Given the description of an element on the screen output the (x, y) to click on. 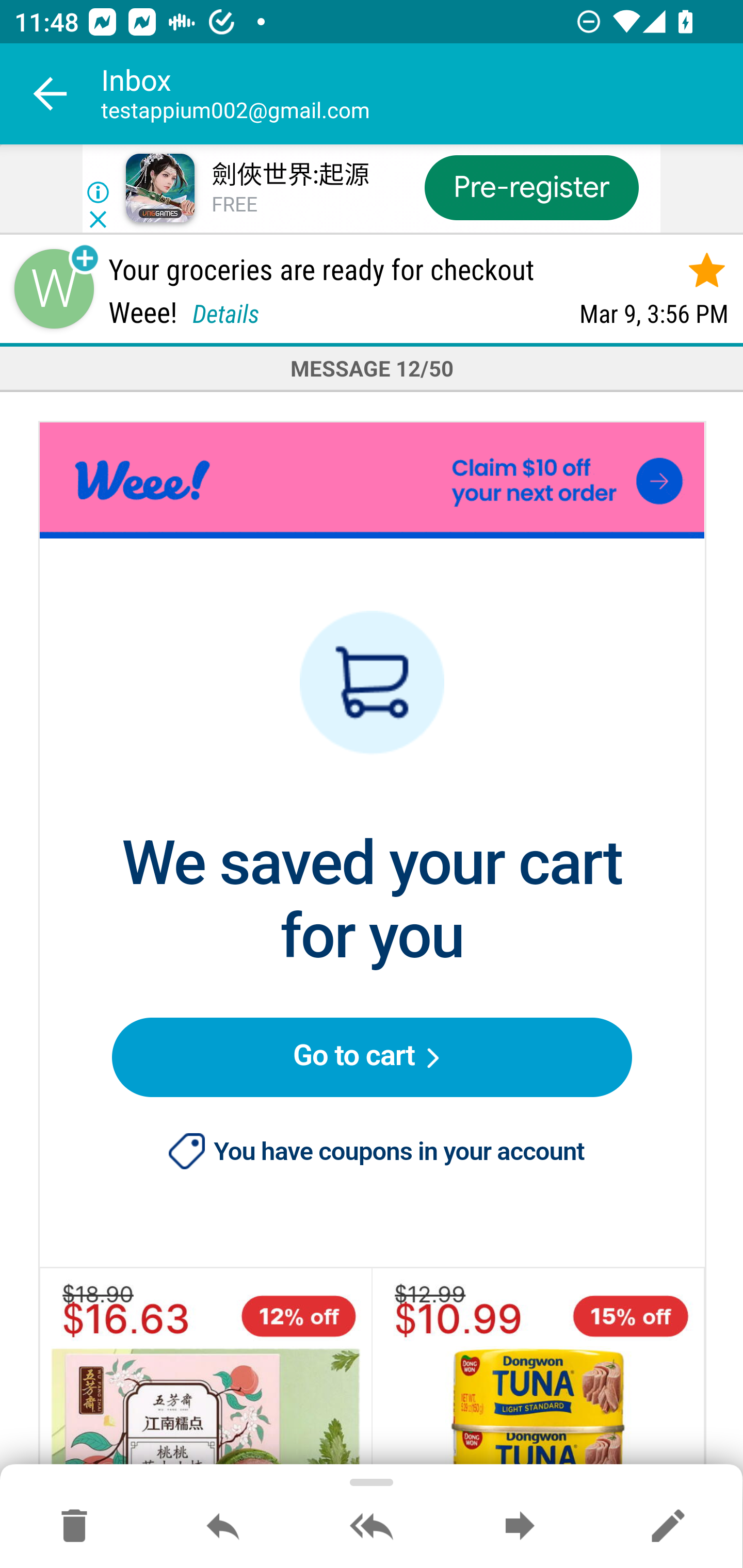
Navigate up (50, 93)
Inbox testappium002@gmail.com (422, 93)
Pre-register (530, 187)
劍俠世界:起源 (289, 175)
Sender contact button (53, 289)
click?upn=u001 (372, 478)
click?upn=u001 (372, 646)
2088534=s512=h623=pup (205, 1369)
23543=s512=h623=pup (538, 1369)
Move to Deleted (74, 1527)
Reply (222, 1527)
Reply all (371, 1527)
Forward (519, 1527)
Reply as new (667, 1527)
